Given the description of an element on the screen output the (x, y) to click on. 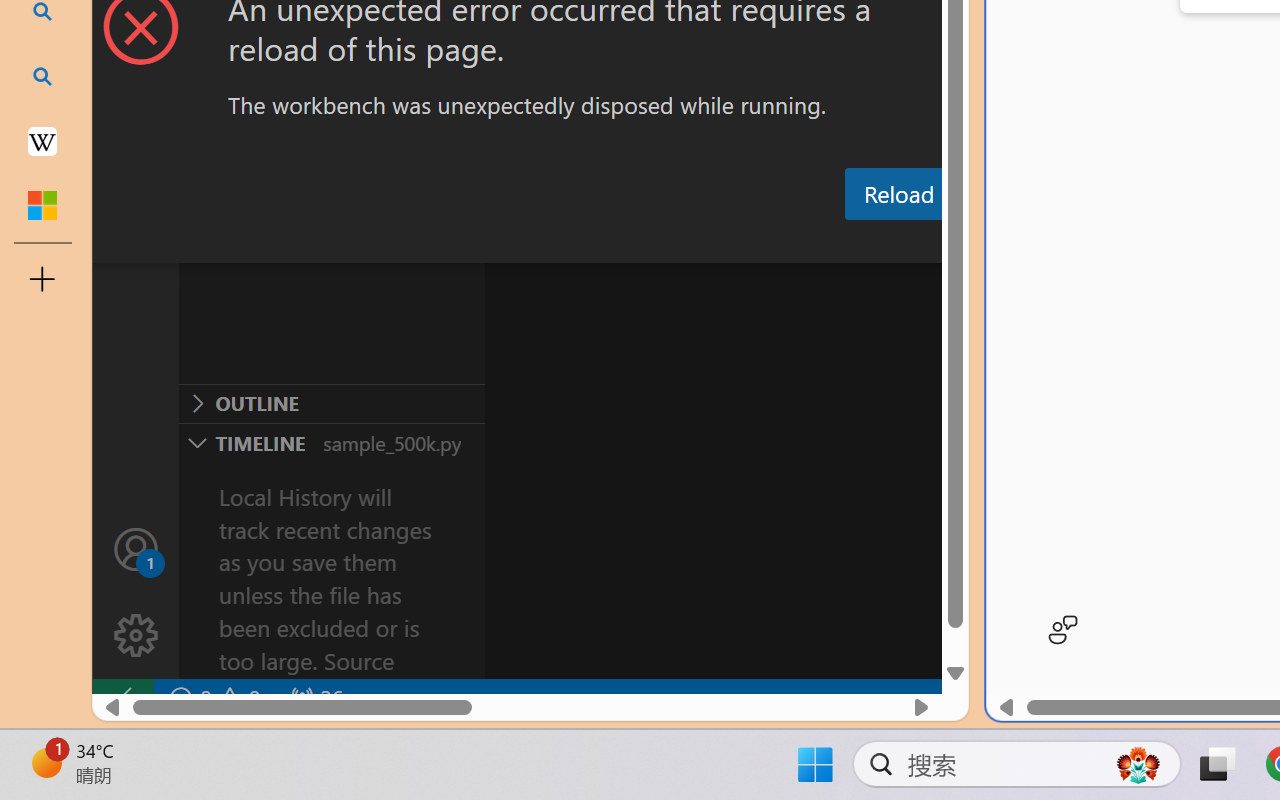
Manage (135, 635)
Reload (898, 193)
Problems (Ctrl+Shift+M) (567, 243)
Output (Ctrl+Shift+U) (696, 243)
Terminal (Ctrl+`) (1021, 243)
